Given the description of an element on the screen output the (x, y) to click on. 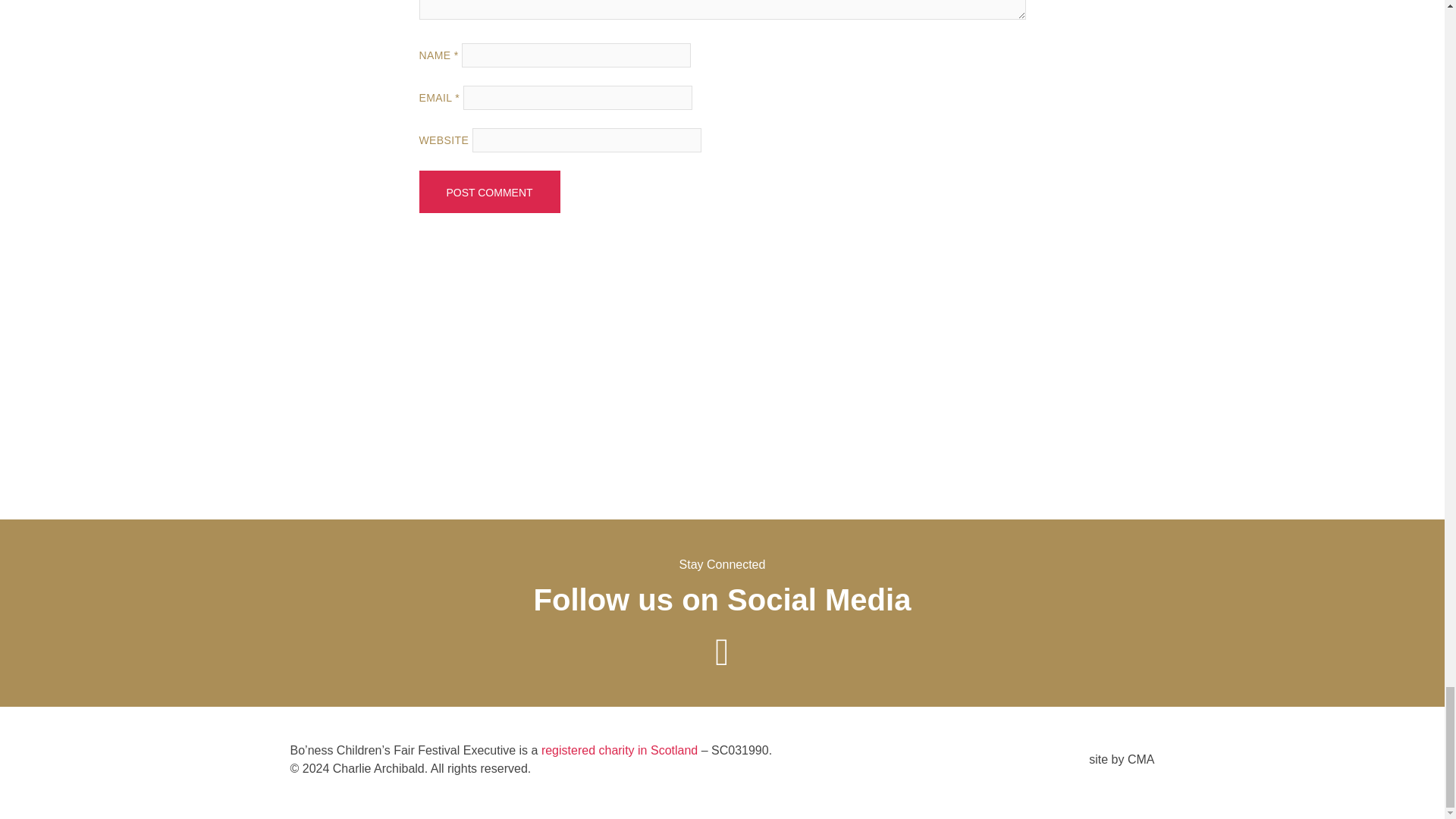
Post Comment (489, 191)
